Given the description of an element on the screen output the (x, y) to click on. 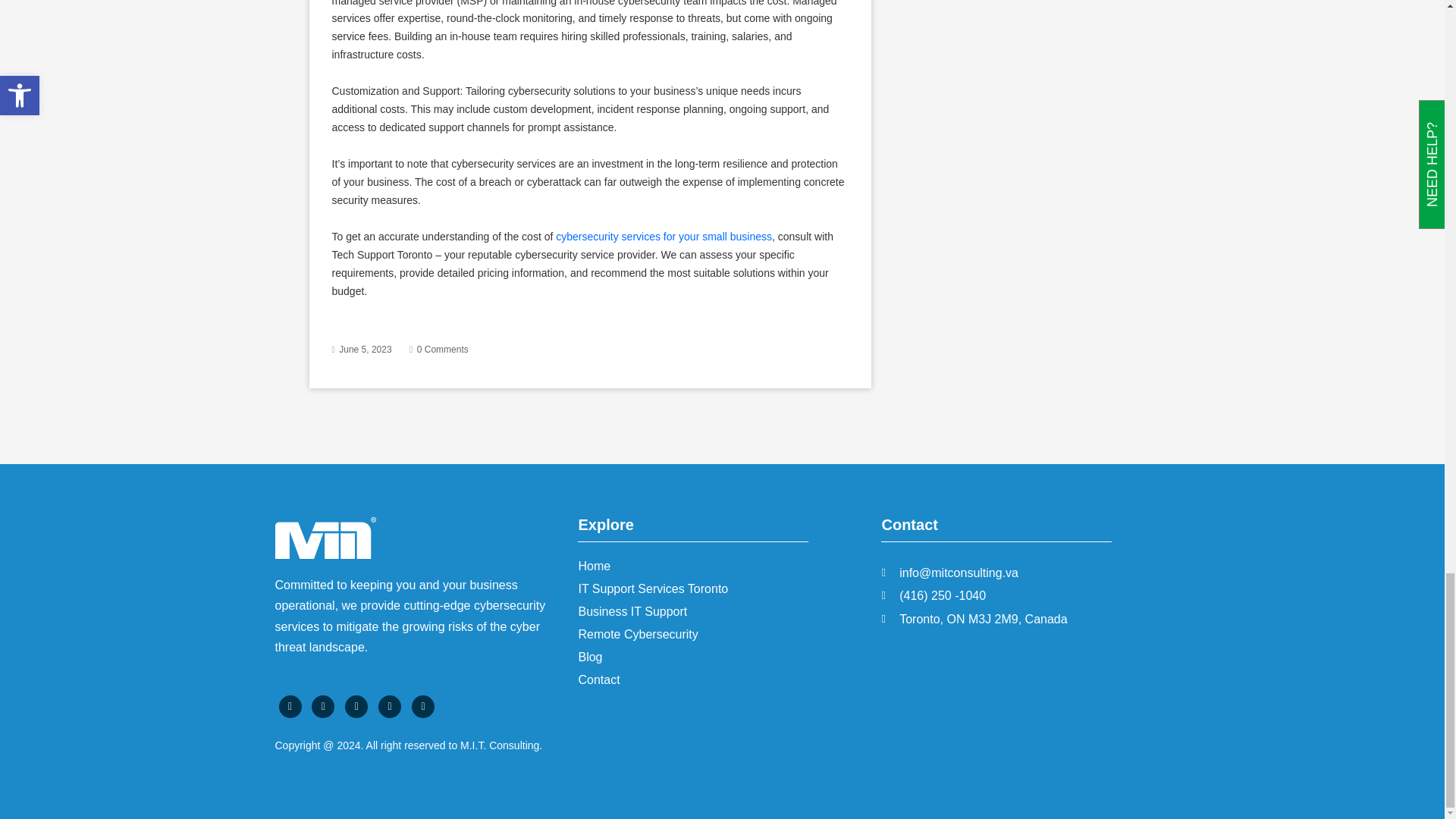
Remote Cybersecurity (637, 634)
cybersecurity services for your small business (663, 236)
IT Support Services Toronto (653, 588)
0 Comments (442, 348)
Business IT Support (632, 611)
Home (594, 565)
